Given the description of an element on the screen output the (x, y) to click on. 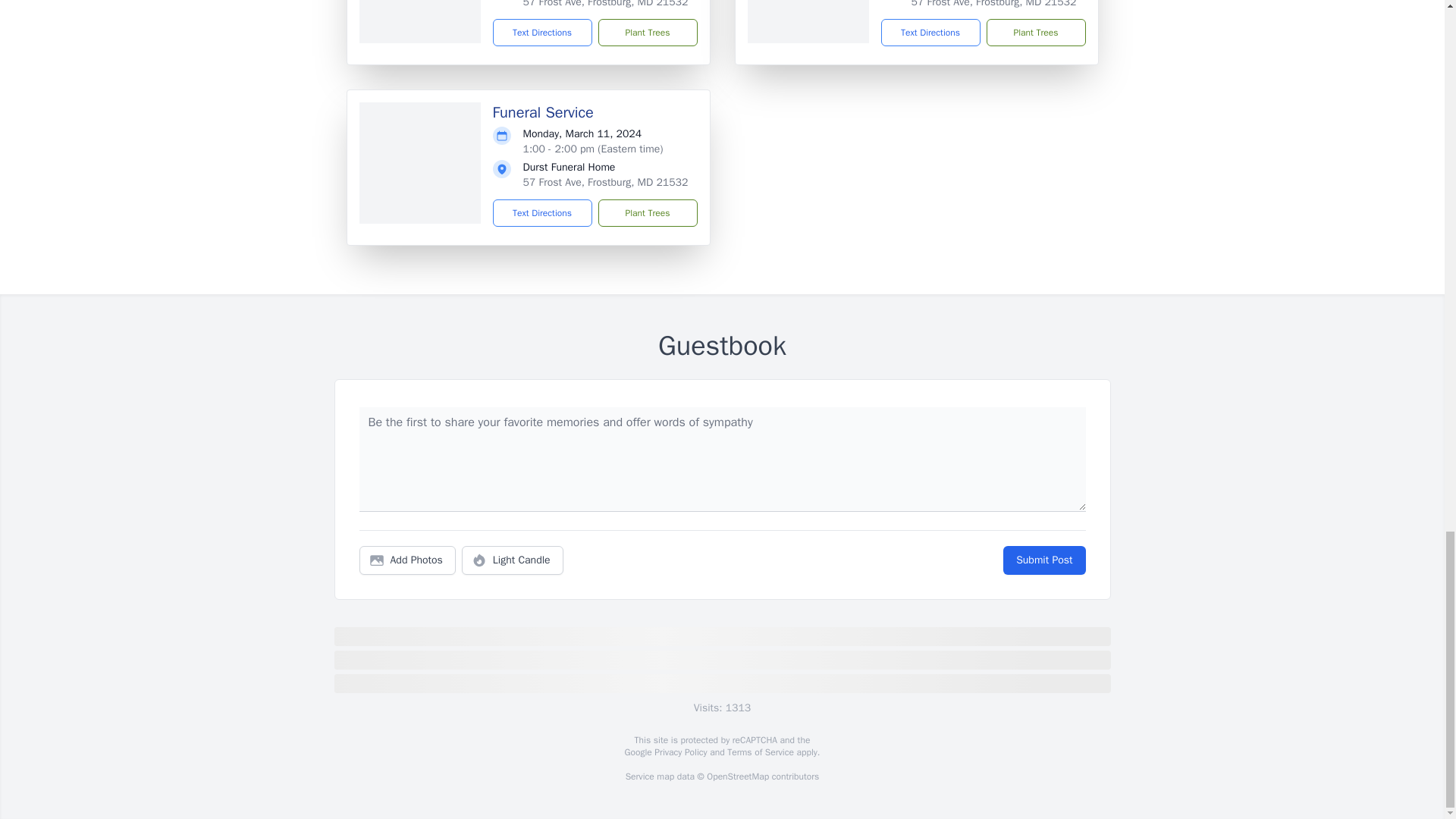
Add Photos (407, 560)
Submit Post (1043, 560)
57 Frost Ave, Frostburg, MD 21532 (605, 4)
Text Directions (542, 212)
Plant Trees (1034, 31)
Text Directions (542, 31)
Plant Trees (646, 31)
57 Frost Ave, Frostburg, MD 21532 (605, 182)
57 Frost Ave, Frostburg, MD 21532 (994, 4)
Light Candle (512, 560)
